Given the description of an element on the screen output the (x, y) to click on. 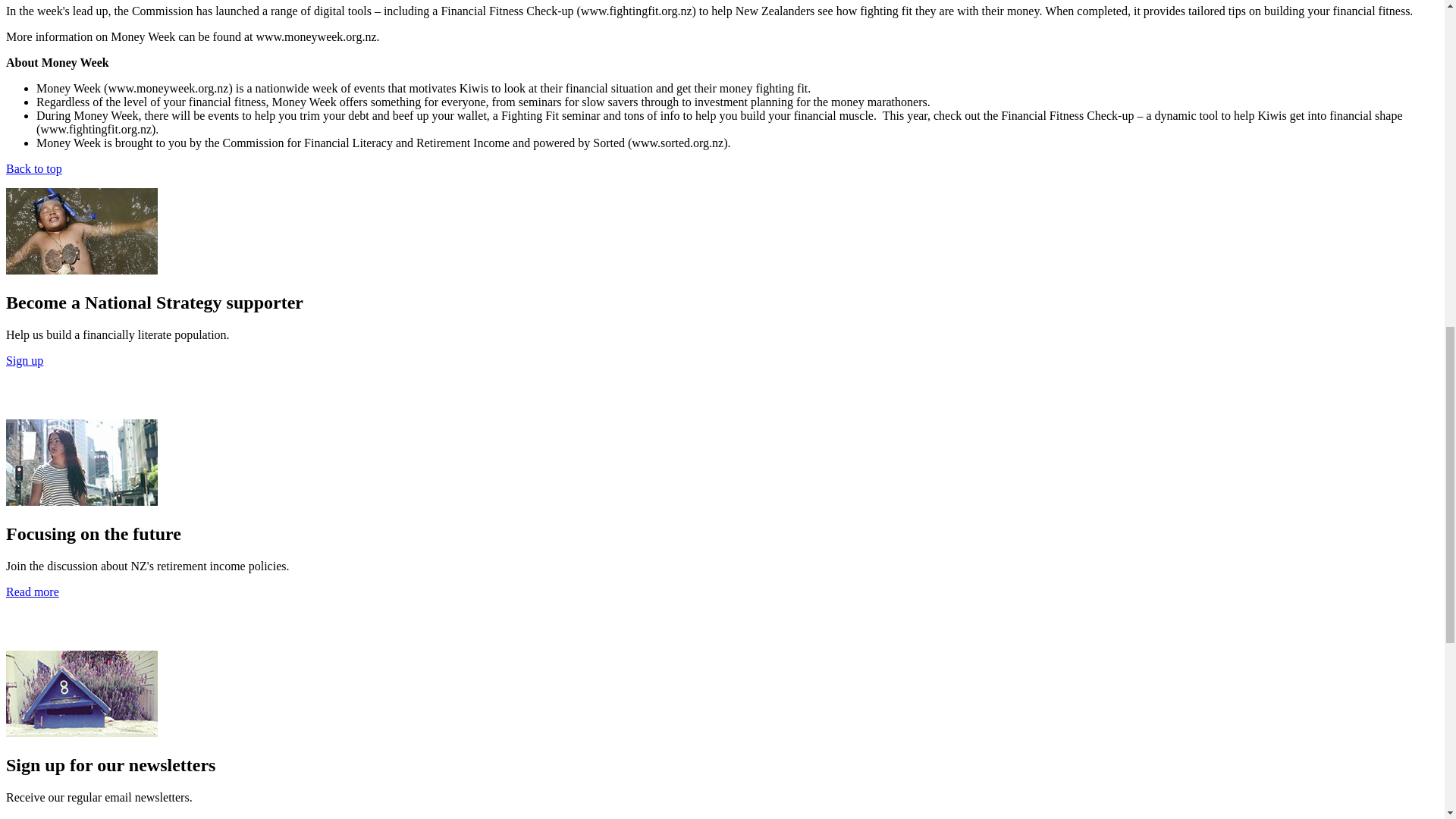
Back to top (33, 168)
Sign up (24, 359)
Sign up (24, 817)
Read more (32, 591)
